Given the description of an element on the screen output the (x, y) to click on. 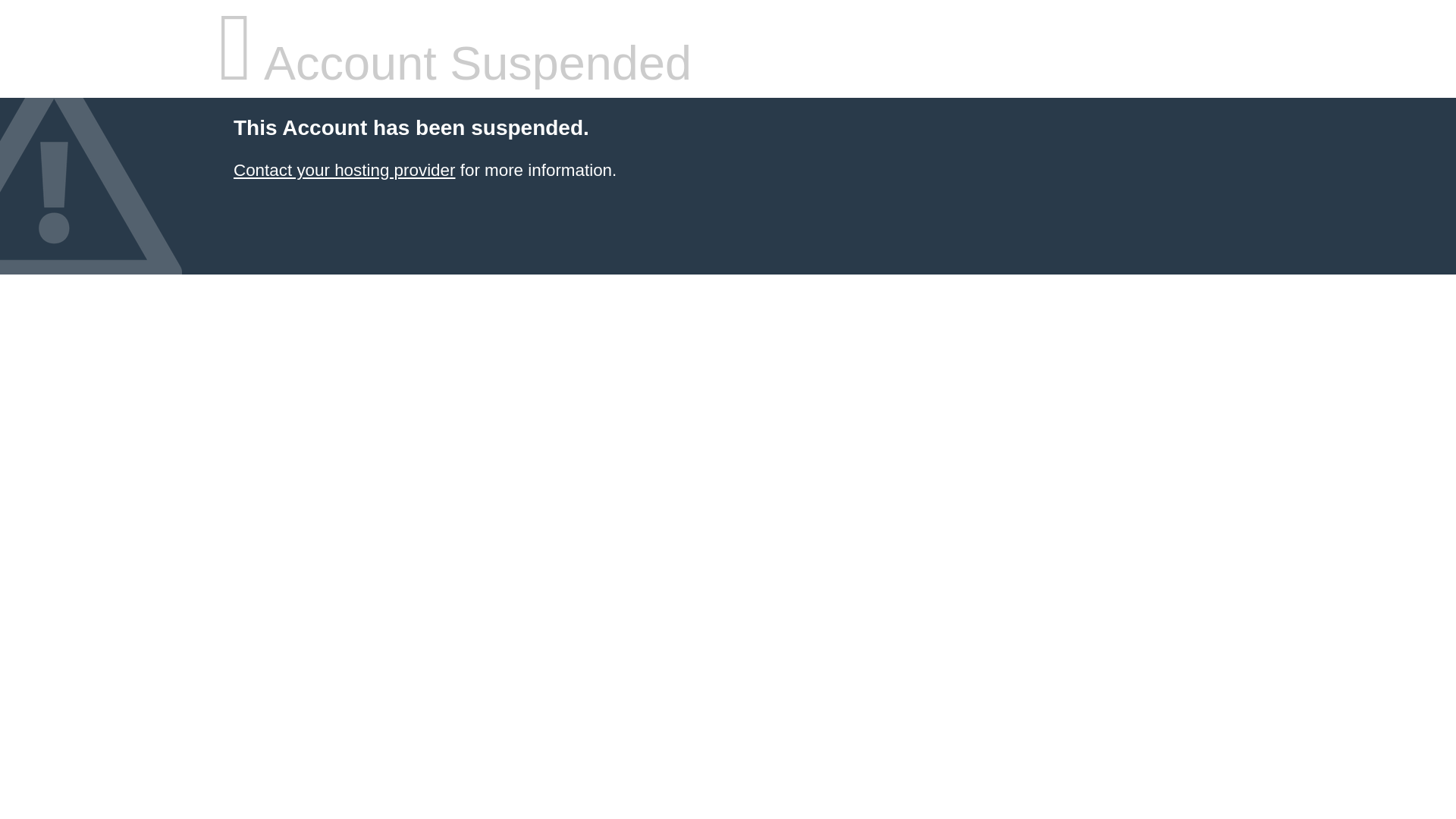
Contact your hosting provider (343, 169)
